Given the description of an element on the screen output the (x, y) to click on. 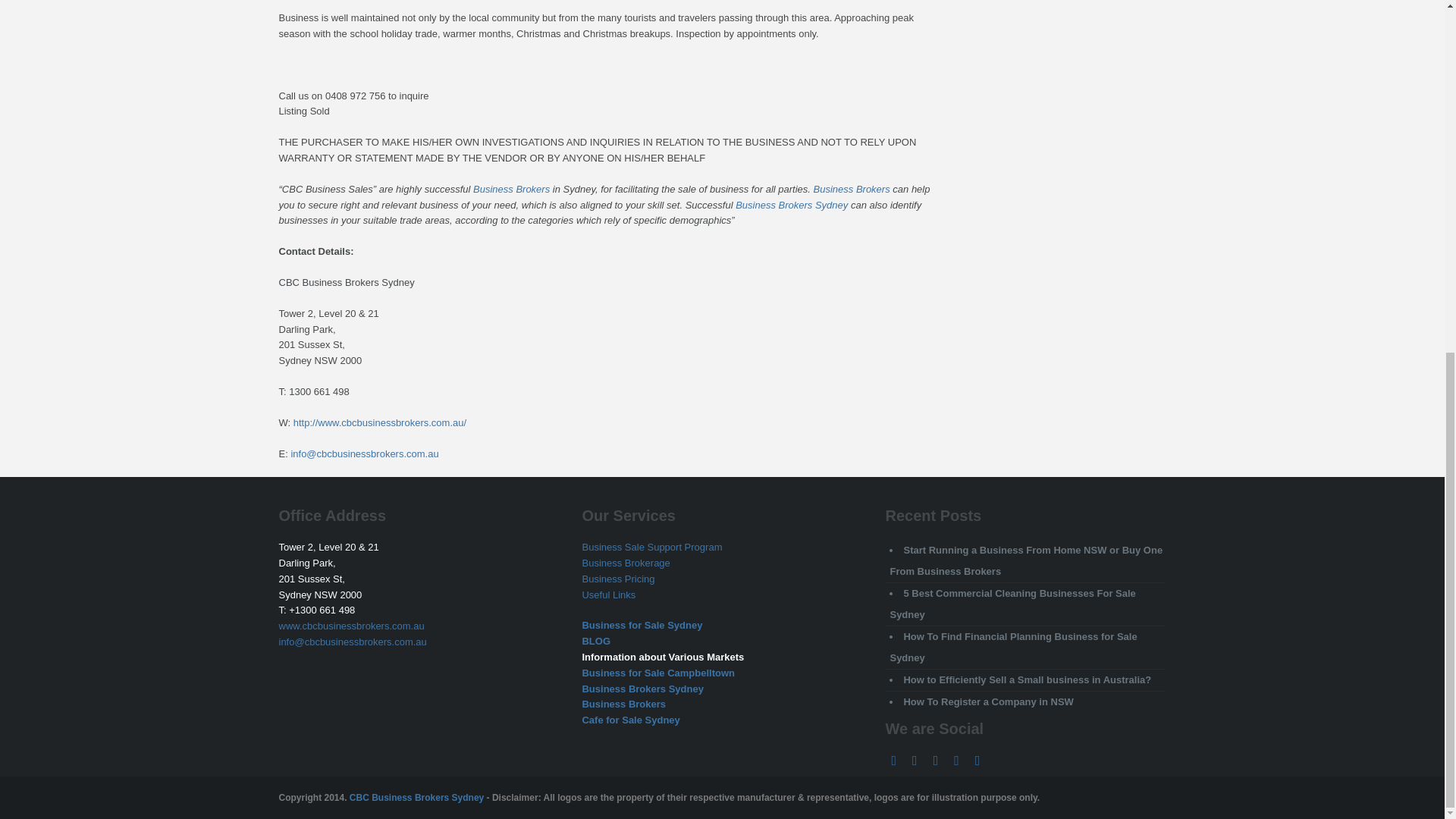
Business Pricing (616, 578)
Business Sale Support Program (651, 546)
How to Efficiently Sell a Small business in Australia? (1026, 679)
Business Brokerage (624, 562)
Business for Sale Sydney (640, 624)
Useful Links (607, 594)
Business Brokers (851, 188)
Business for Sale Campbelltown (657, 672)
BLOG (595, 641)
